Given the description of an element on the screen output the (x, y) to click on. 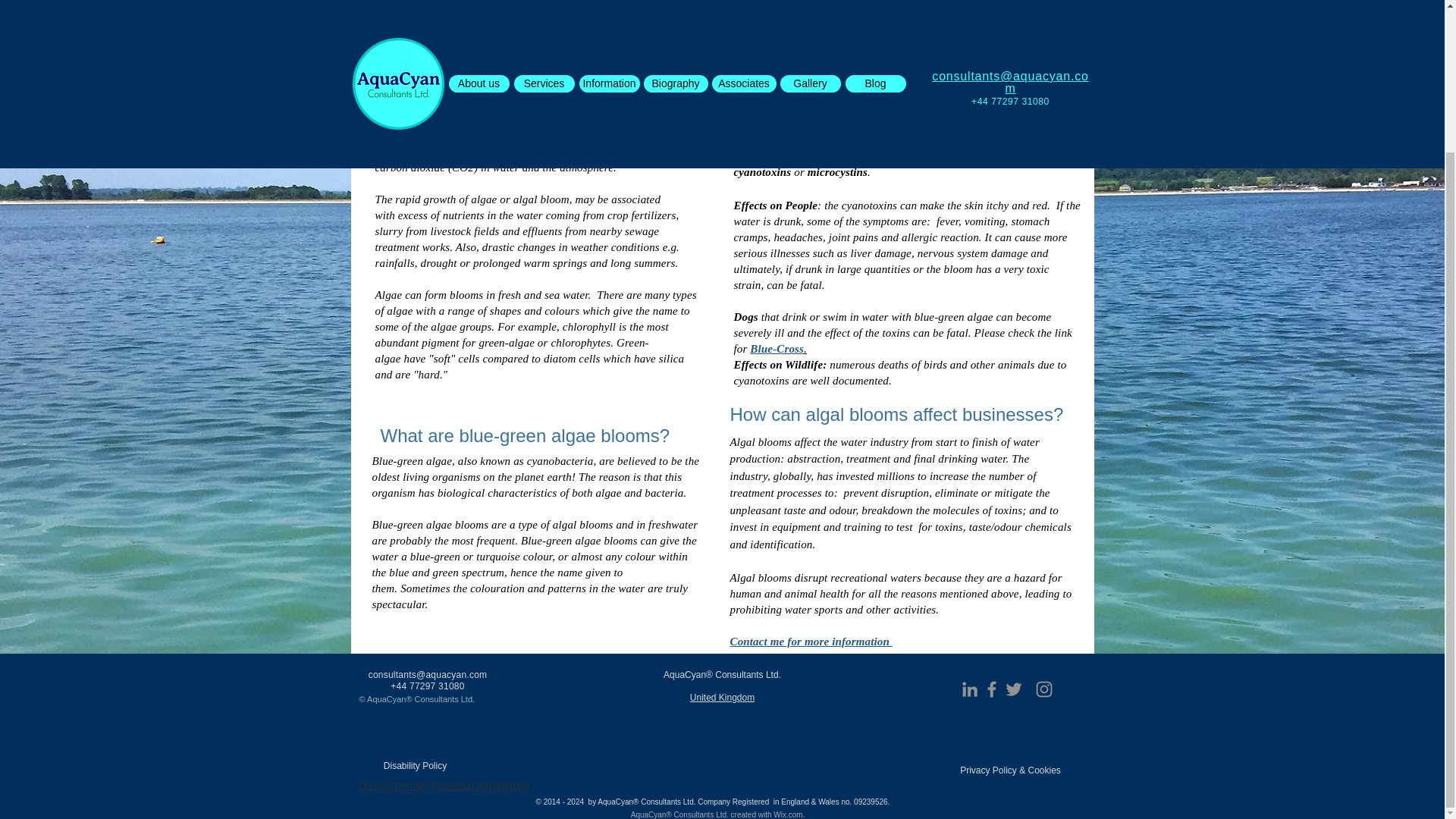
. (804, 347)
United Kingdom (722, 697)
Disability Policy (415, 765)
Contact me for more information  (810, 640)
Blue-Cross (776, 347)
Do Not Sell My Personal Information (443, 785)
